Given the description of an element on the screen output the (x, y) to click on. 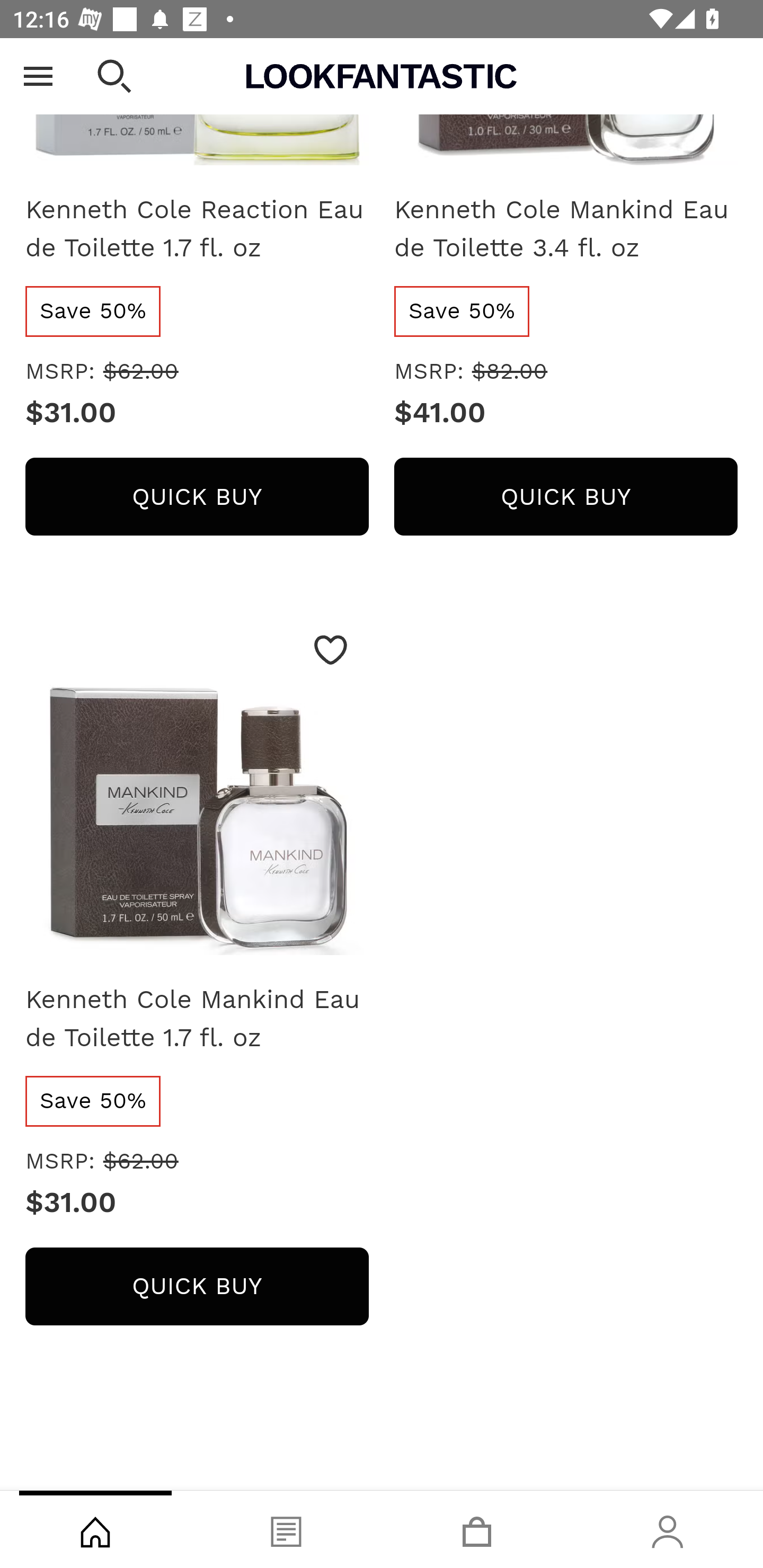
Kenneth Cole Reaction Eau de Toilette 1.7 fl. oz (196, 229)
Kenneth Cole Mankind Eau de Toilette 3.4 fl. oz (565, 229)
Save 50%, read more (93, 311)
Save 50%, read more (462, 311)
Kenneth Cole Mankind Eau de Toilette 1.7 fl. oz (196, 790)
Save to Wishlist (330, 650)
Kenneth Cole Mankind Eau de Toilette 1.7 fl. oz (196, 1018)
Save 50%, read more (93, 1101)
Shop, tab, 1 of 4 (95, 1529)
Blog, tab, 2 of 4 (285, 1529)
Basket, tab, 3 of 4 (476, 1529)
Account, tab, 4 of 4 (667, 1529)
